Given the description of an element on the screen output the (x, y) to click on. 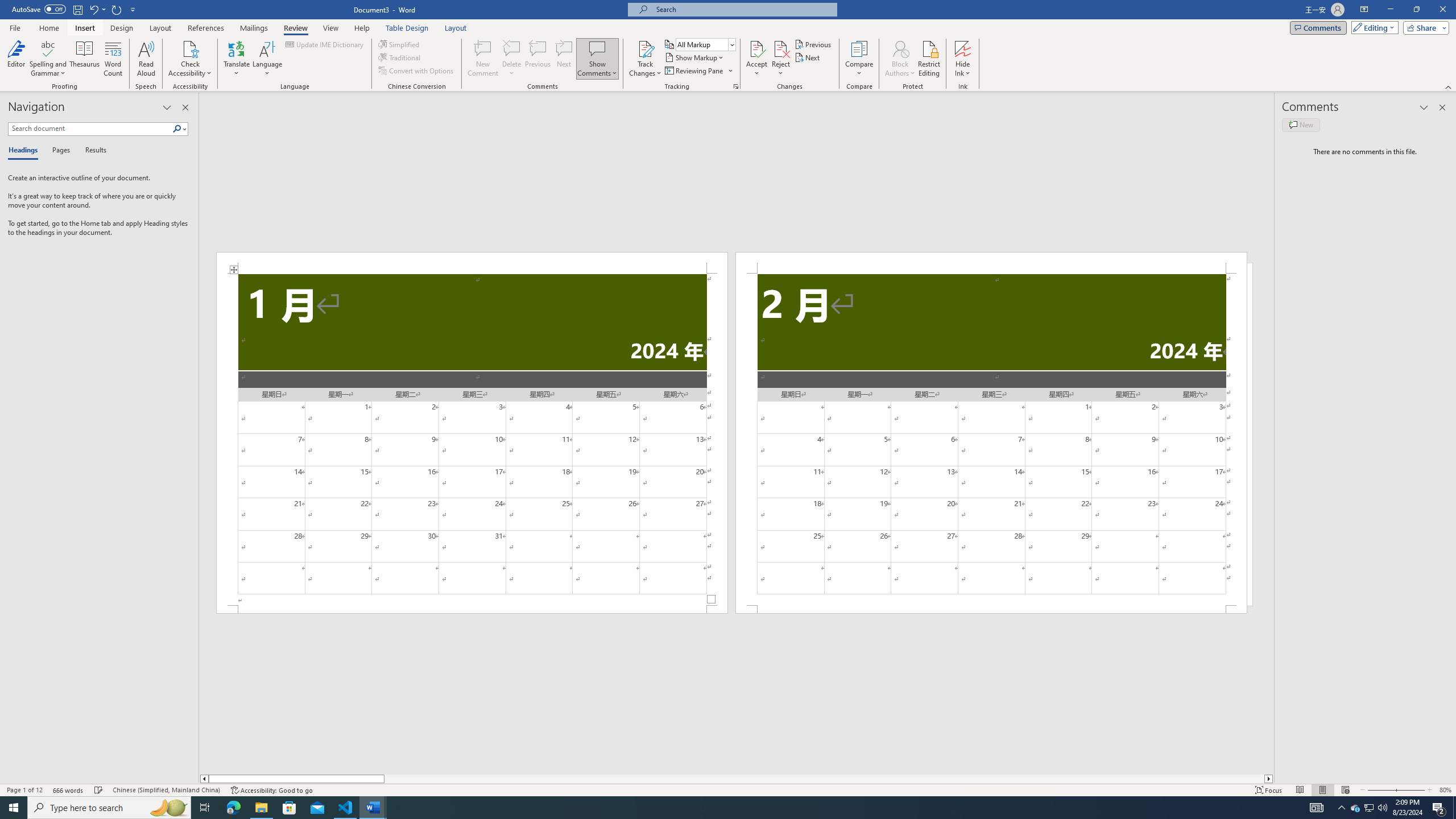
Page right (823, 778)
Column left (203, 778)
Reviewing Pane (694, 69)
Thesaurus... (84, 58)
